Given the description of an element on the screen output the (x, y) to click on. 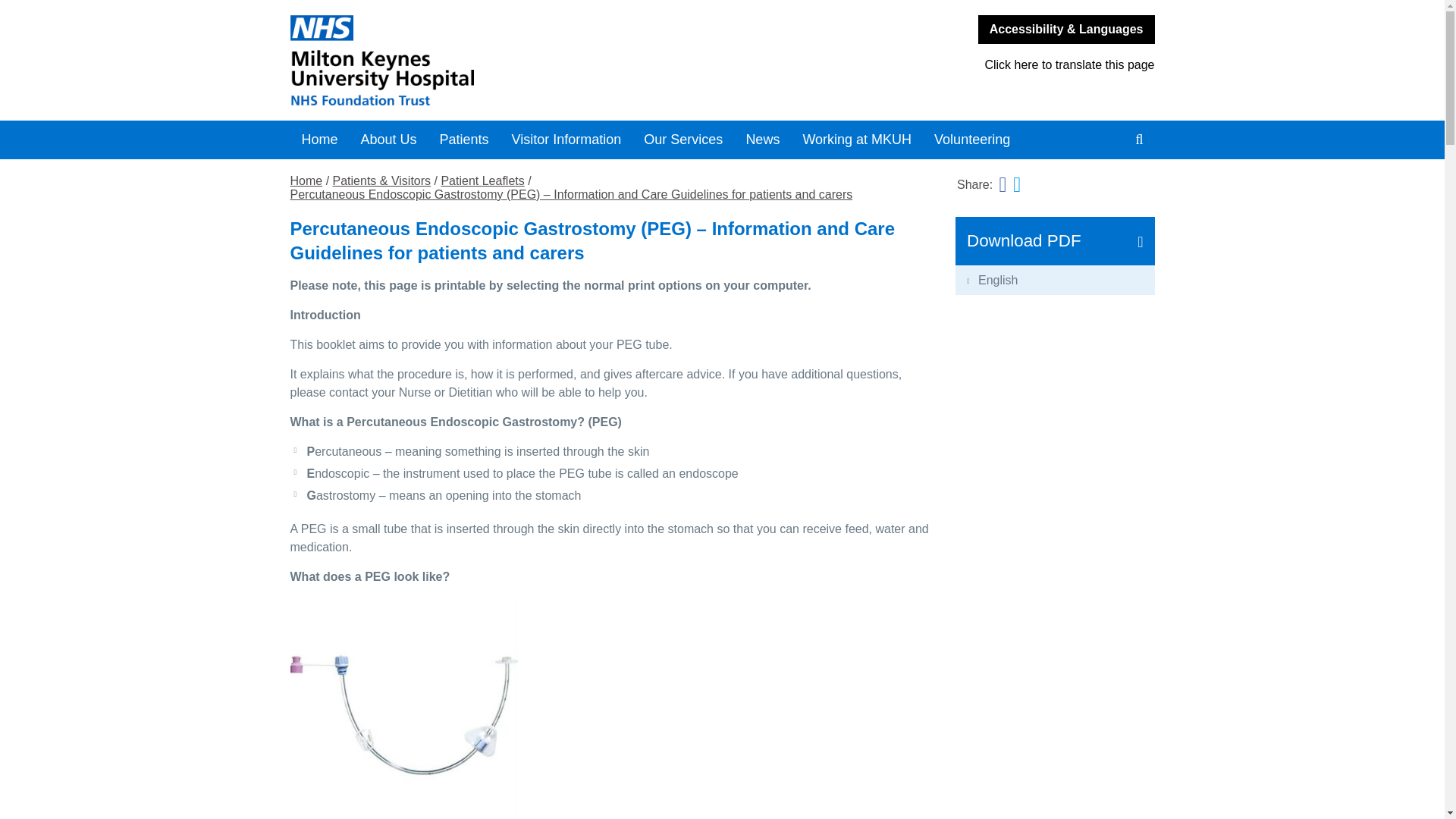
Our Services (682, 139)
Patients (464, 139)
Visitor Information (566, 139)
Home (499, 60)
About Us (388, 139)
News (761, 139)
Home (319, 139)
